Given the description of an element on the screen output the (x, y) to click on. 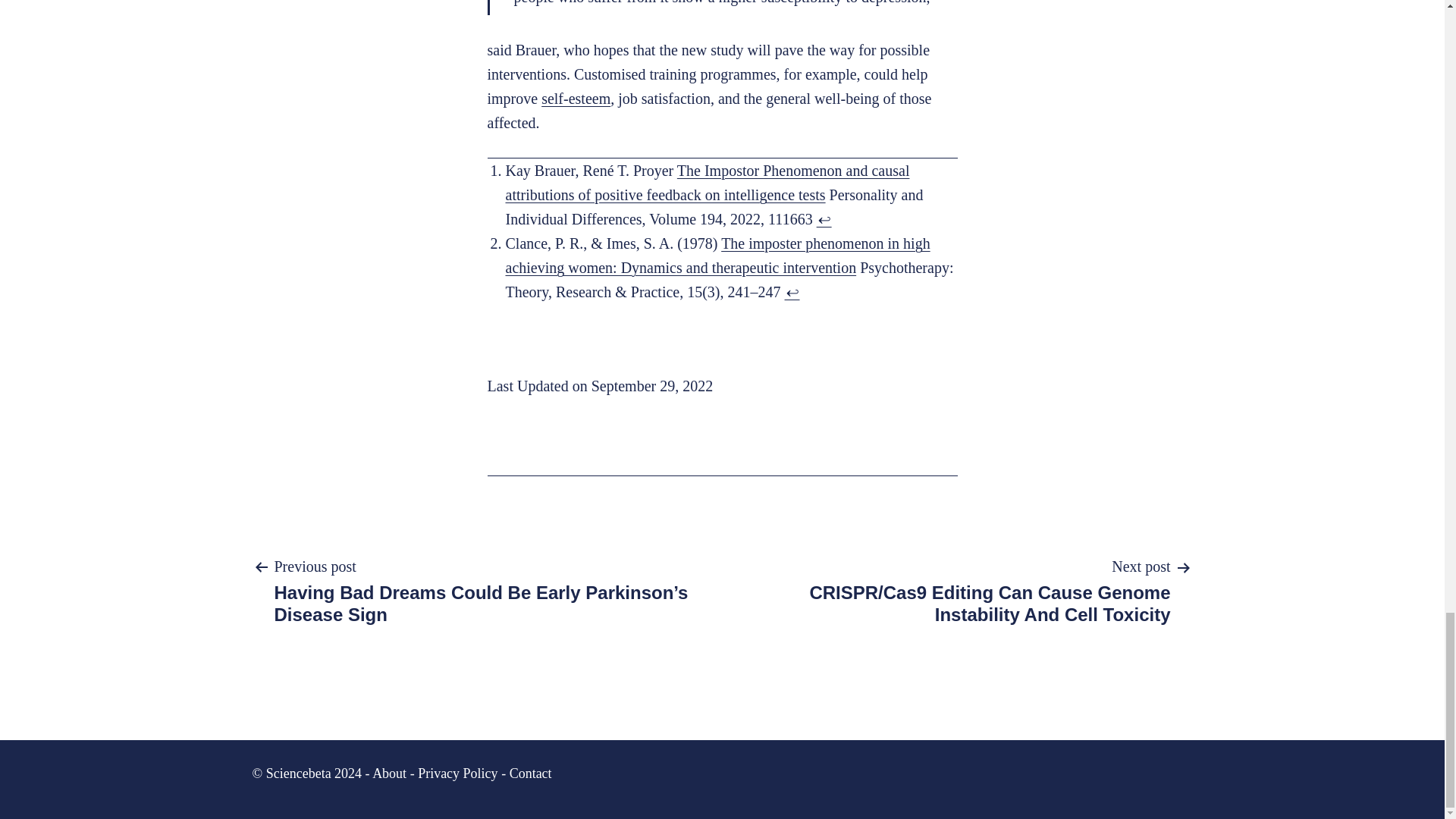
About (389, 773)
Contact (530, 773)
self-esteem (575, 98)
Privacy Policy (457, 773)
